Given the description of an element on the screen output the (x, y) to click on. 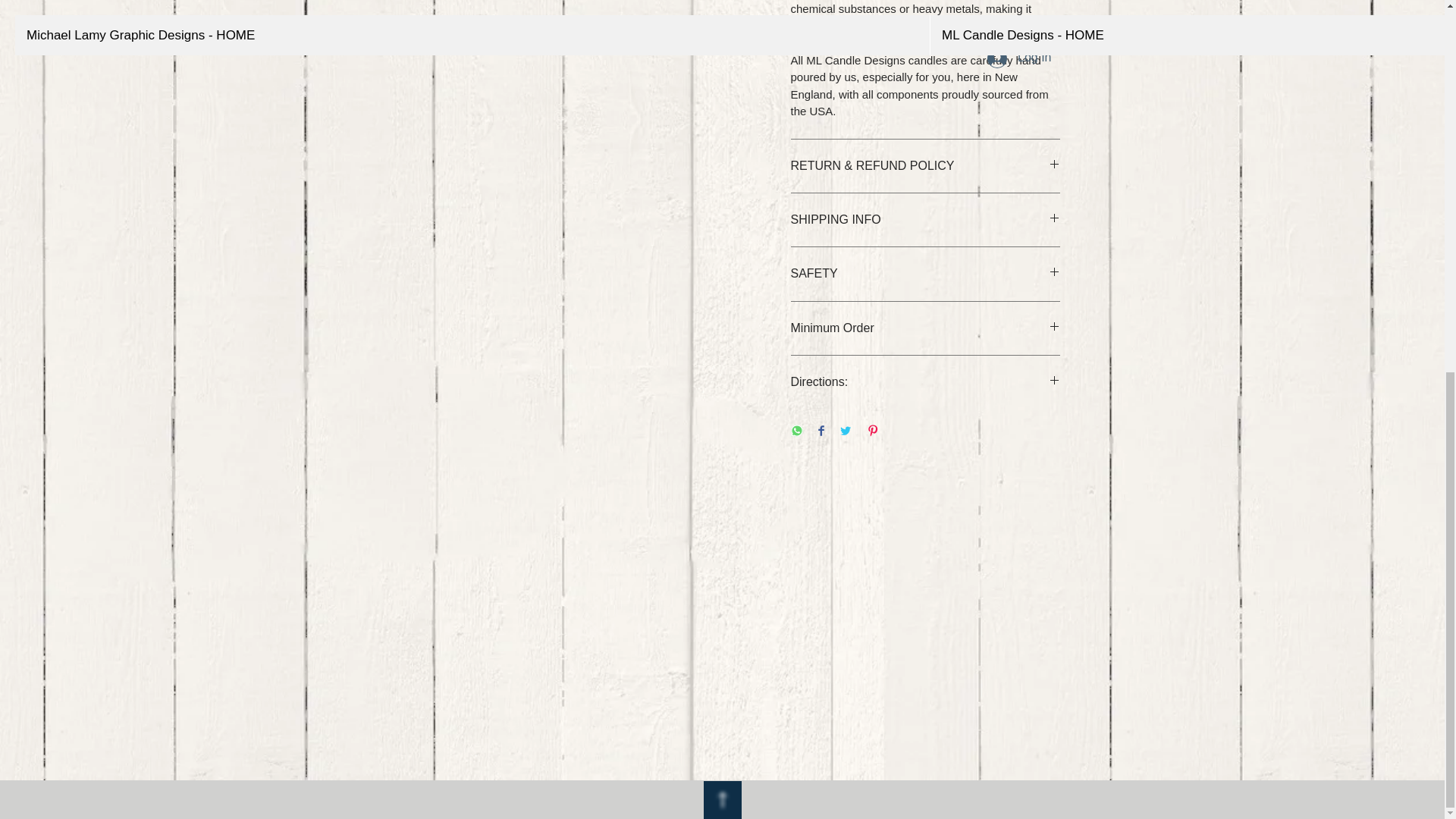
Minimum Order (924, 328)
SAFETY (924, 273)
Directions: (924, 381)
SHIPPING INFO (924, 219)
